Given the description of an element on the screen output the (x, y) to click on. 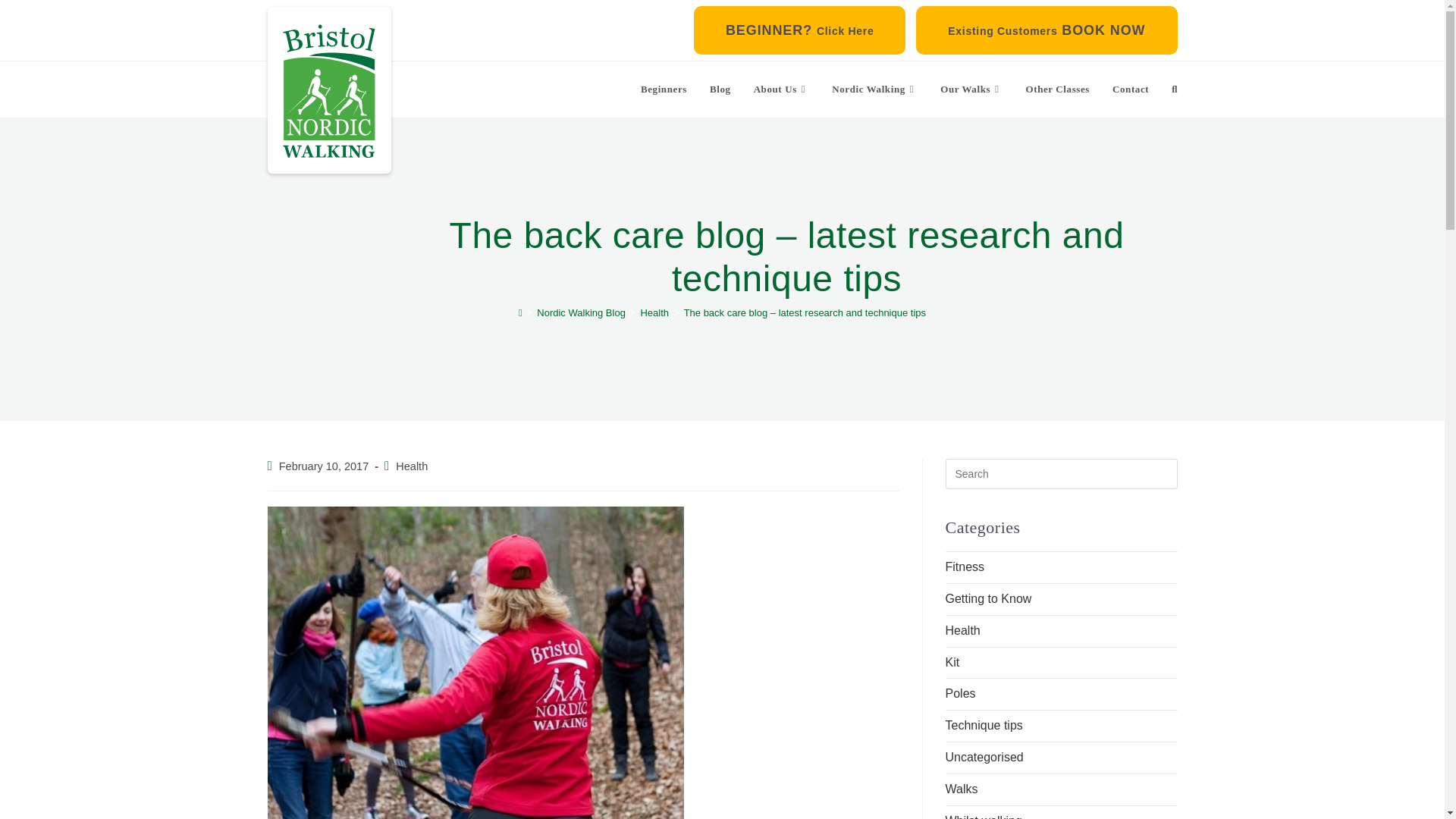
Health (654, 312)
Contact (1130, 89)
Nordic Walking Blog (581, 312)
Beginners (663, 89)
Our Walks (970, 89)
About Us (781, 89)
Existing Customers BOOK NOW (1045, 29)
BEGINNER? Click Here (799, 29)
Nordic Walking (874, 89)
Other Classes (1057, 89)
